Given the description of an element on the screen output the (x, y) to click on. 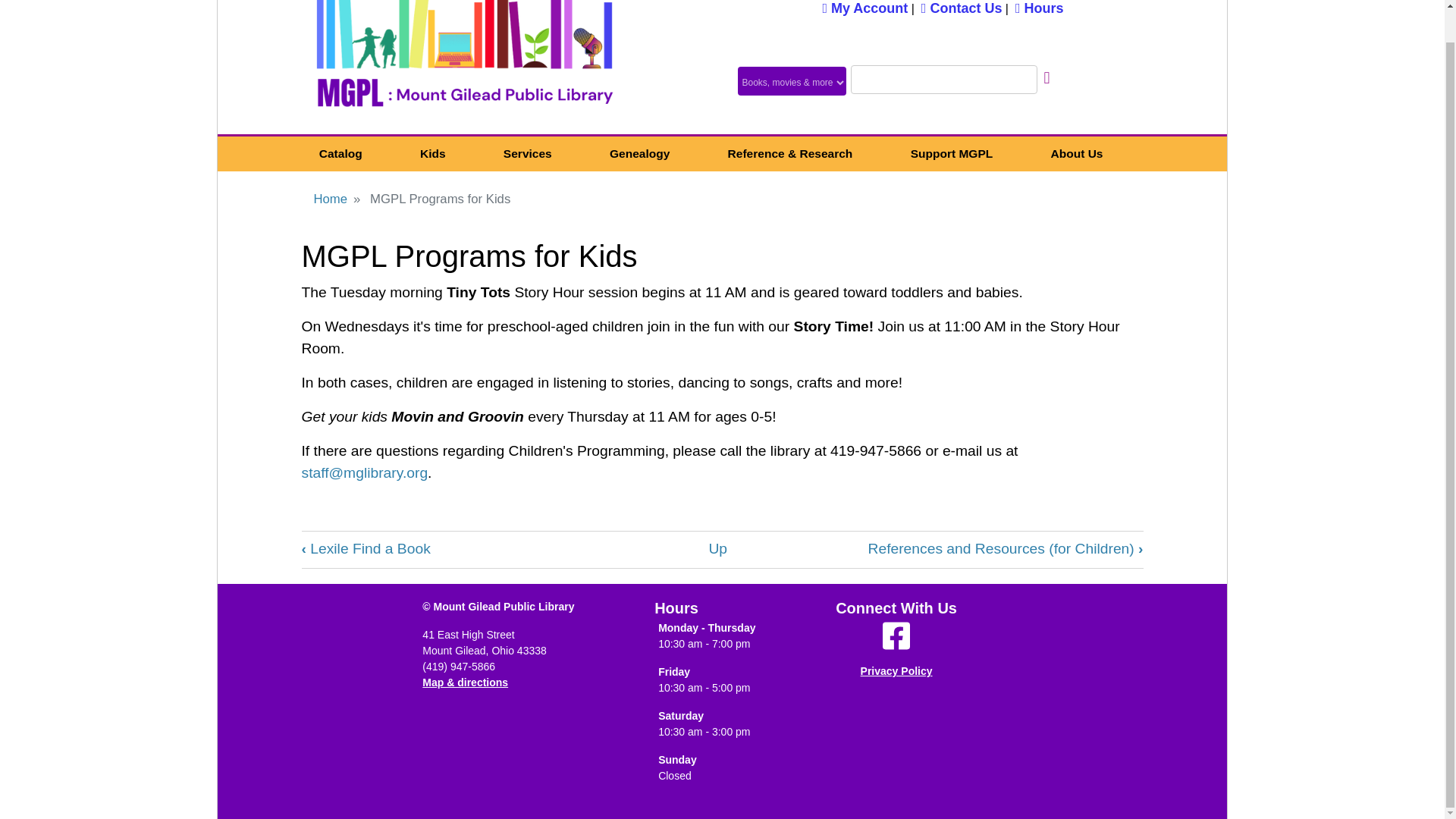
 Contact Us (962, 7)
Support MGPL (951, 153)
Services (527, 153)
 My Account (864, 7)
Catalog (340, 153)
Genealogy (639, 153)
Home (464, 67)
About Us (1075, 153)
Genealogy (639, 153)
Kids (433, 153)
